Given the description of an element on the screen output the (x, y) to click on. 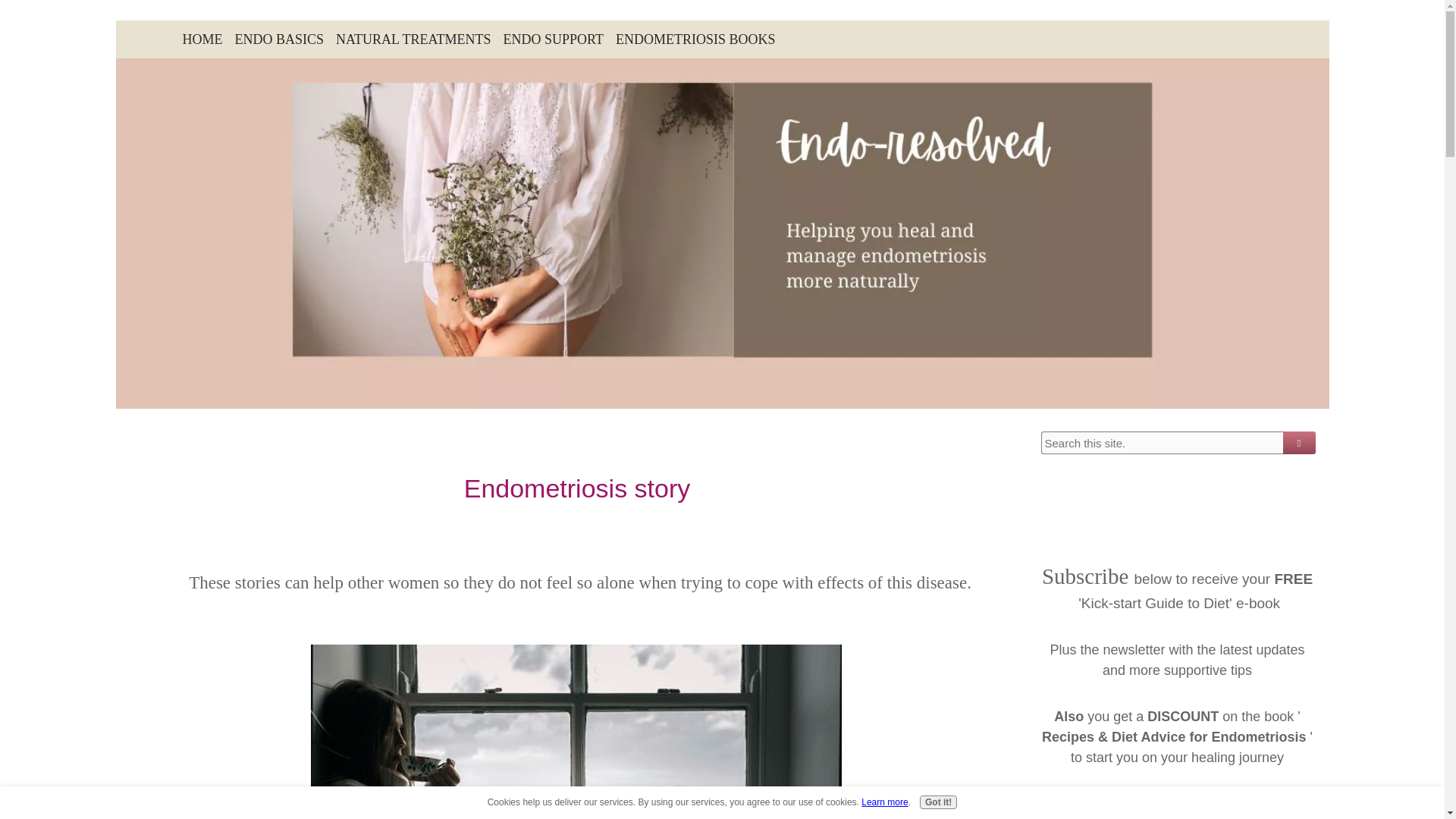
HOME (202, 39)
ENDOMETRIOSIS BOOKS (695, 39)
